Given the description of an element on the screen output the (x, y) to click on. 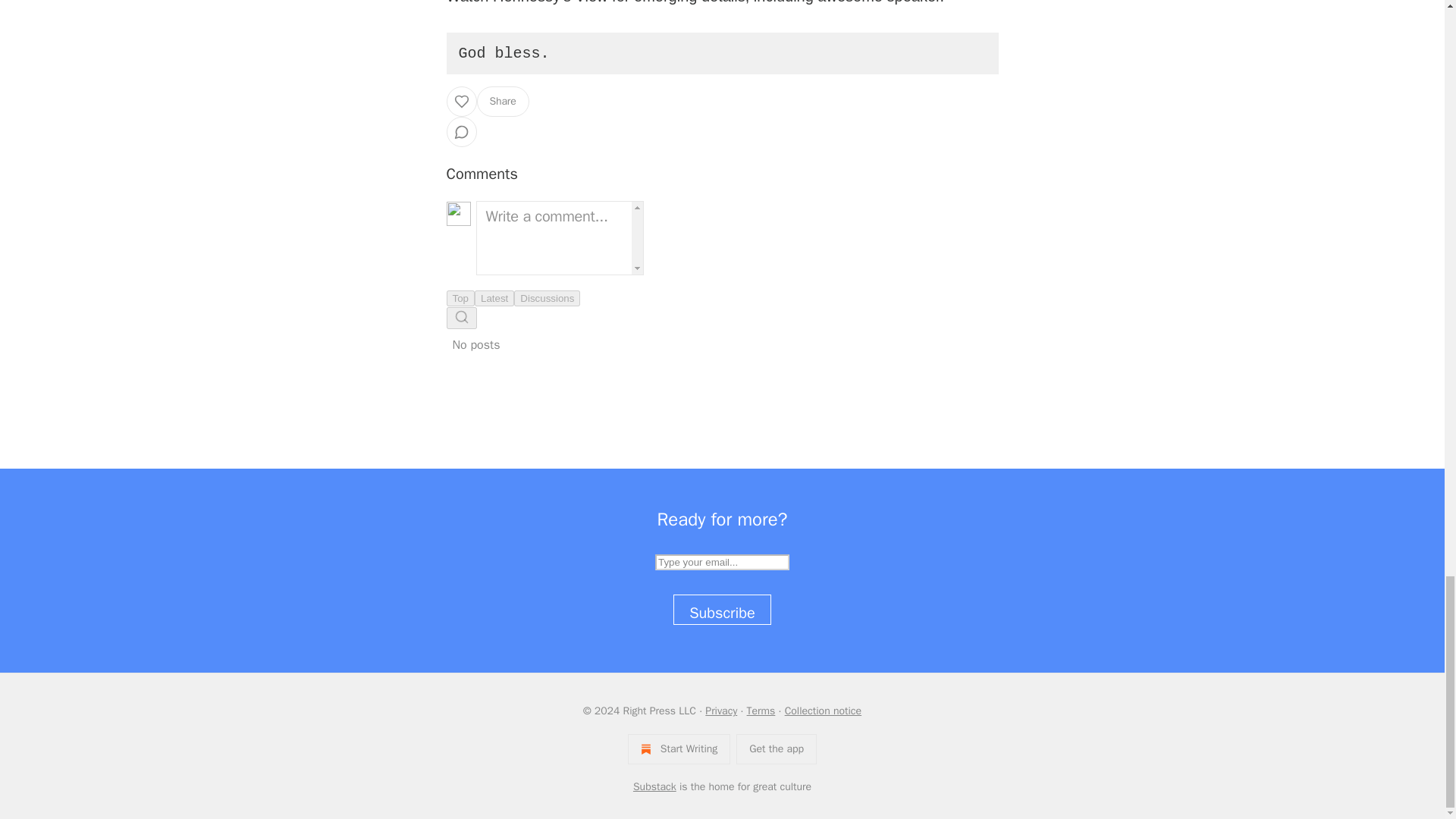
Share (502, 101)
